Given the description of an element on the screen output the (x, y) to click on. 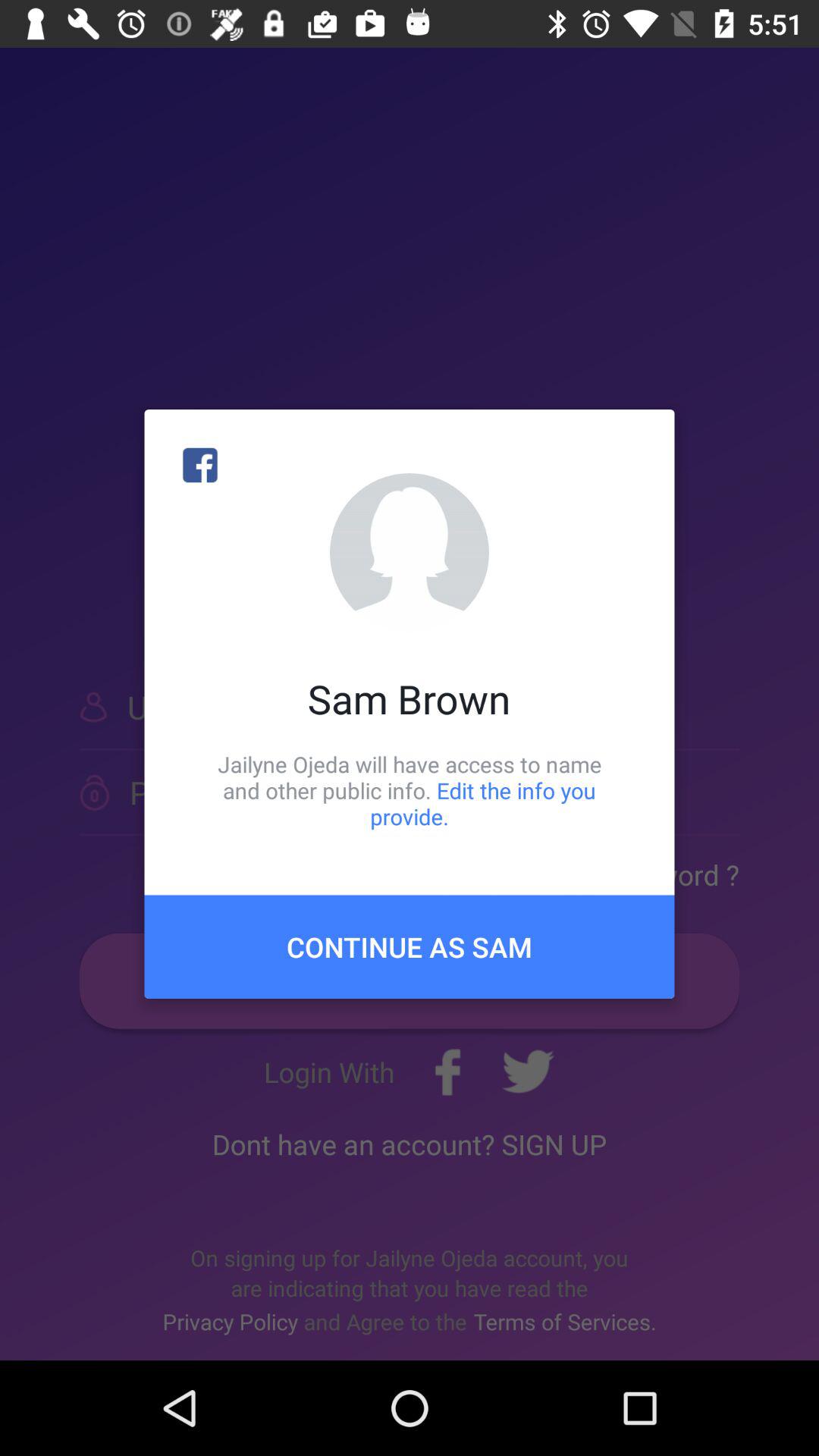
launch the continue as sam item (409, 946)
